Given the description of an element on the screen output the (x, y) to click on. 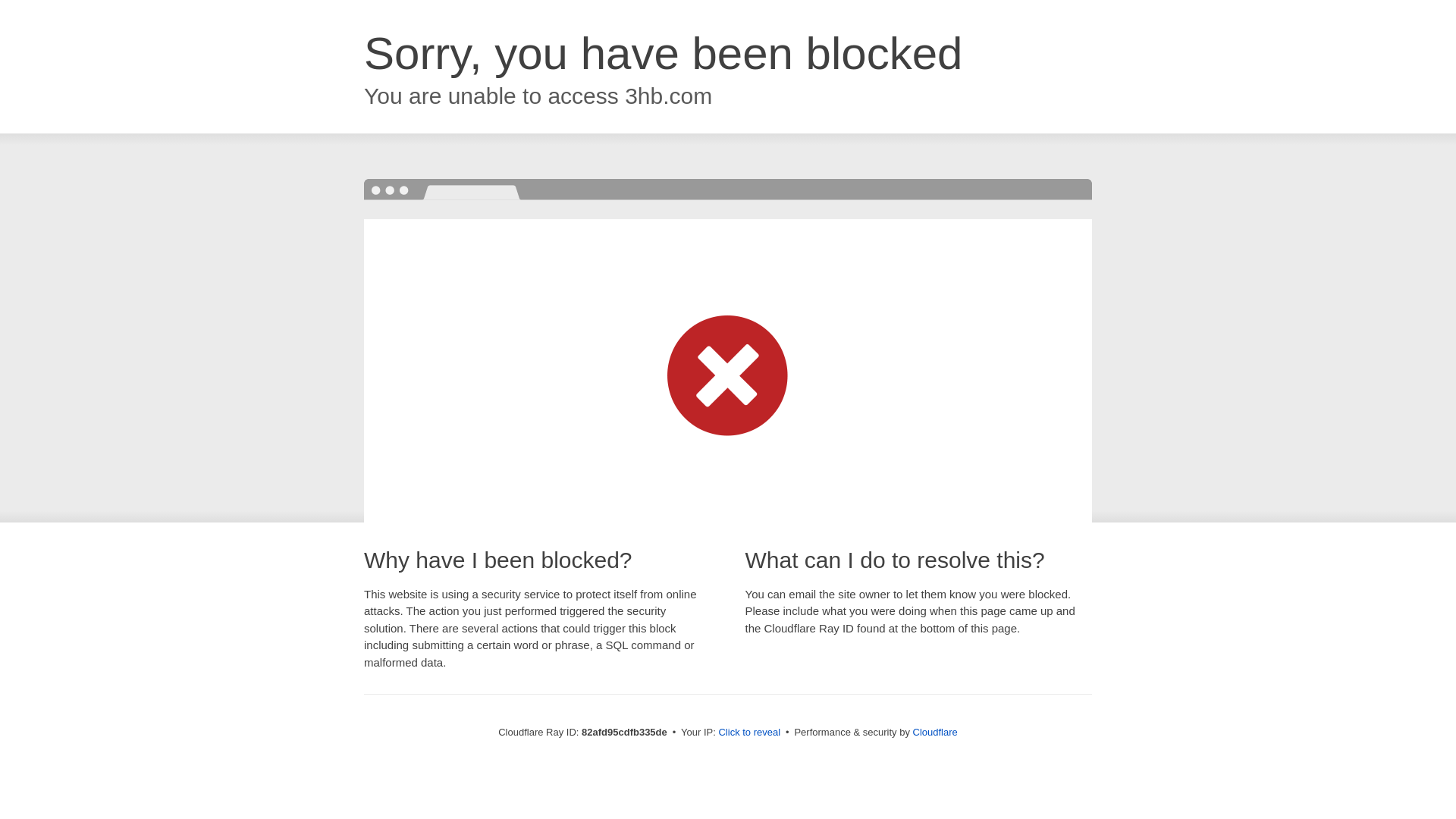
Cloudflare Element type: text (935, 731)
Click to reveal Element type: text (749, 732)
